Given the description of an element on the screen output the (x, y) to click on. 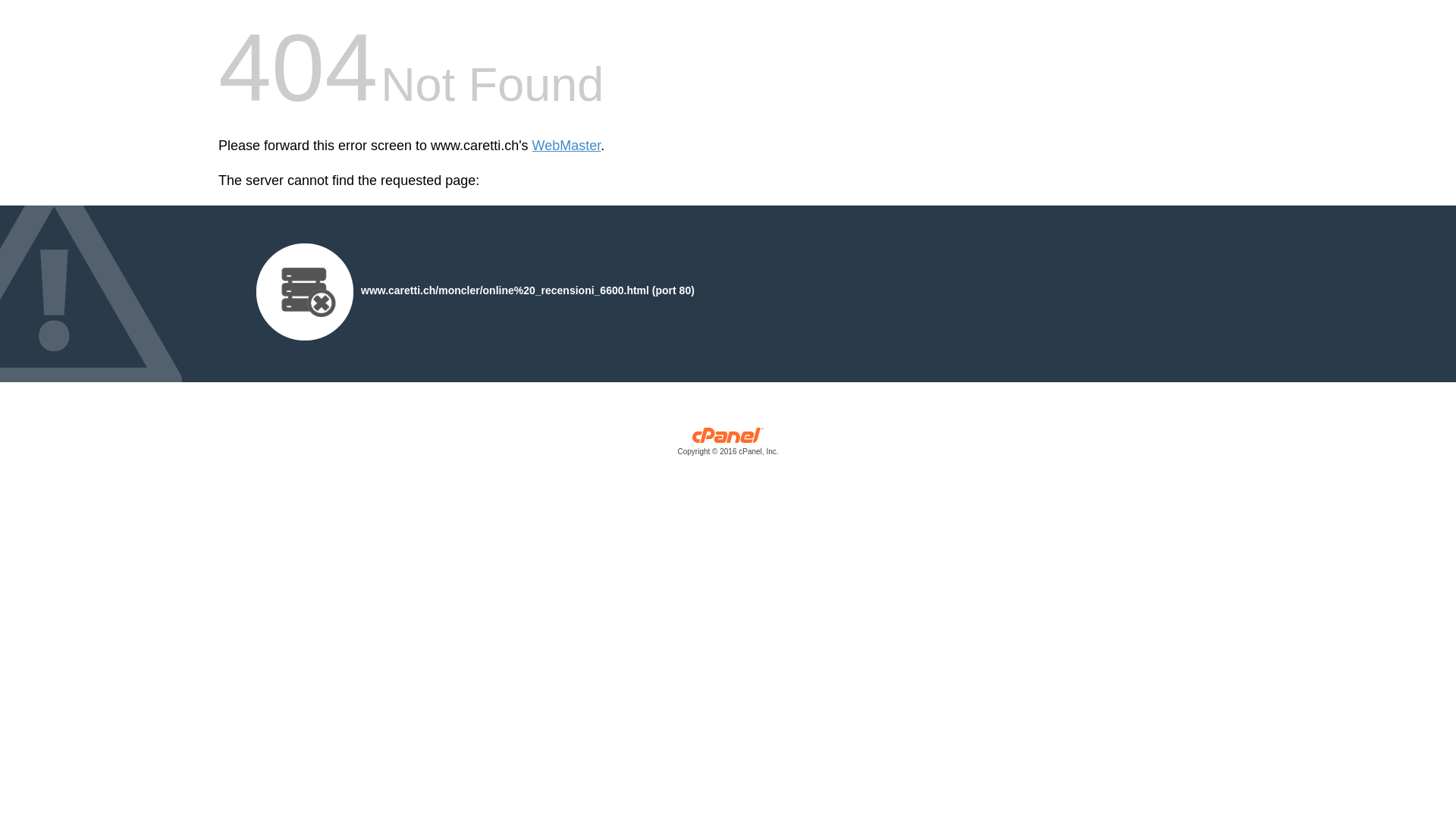
WebMaster Element type: text (566, 145)
